Given the description of an element on the screen output the (x, y) to click on. 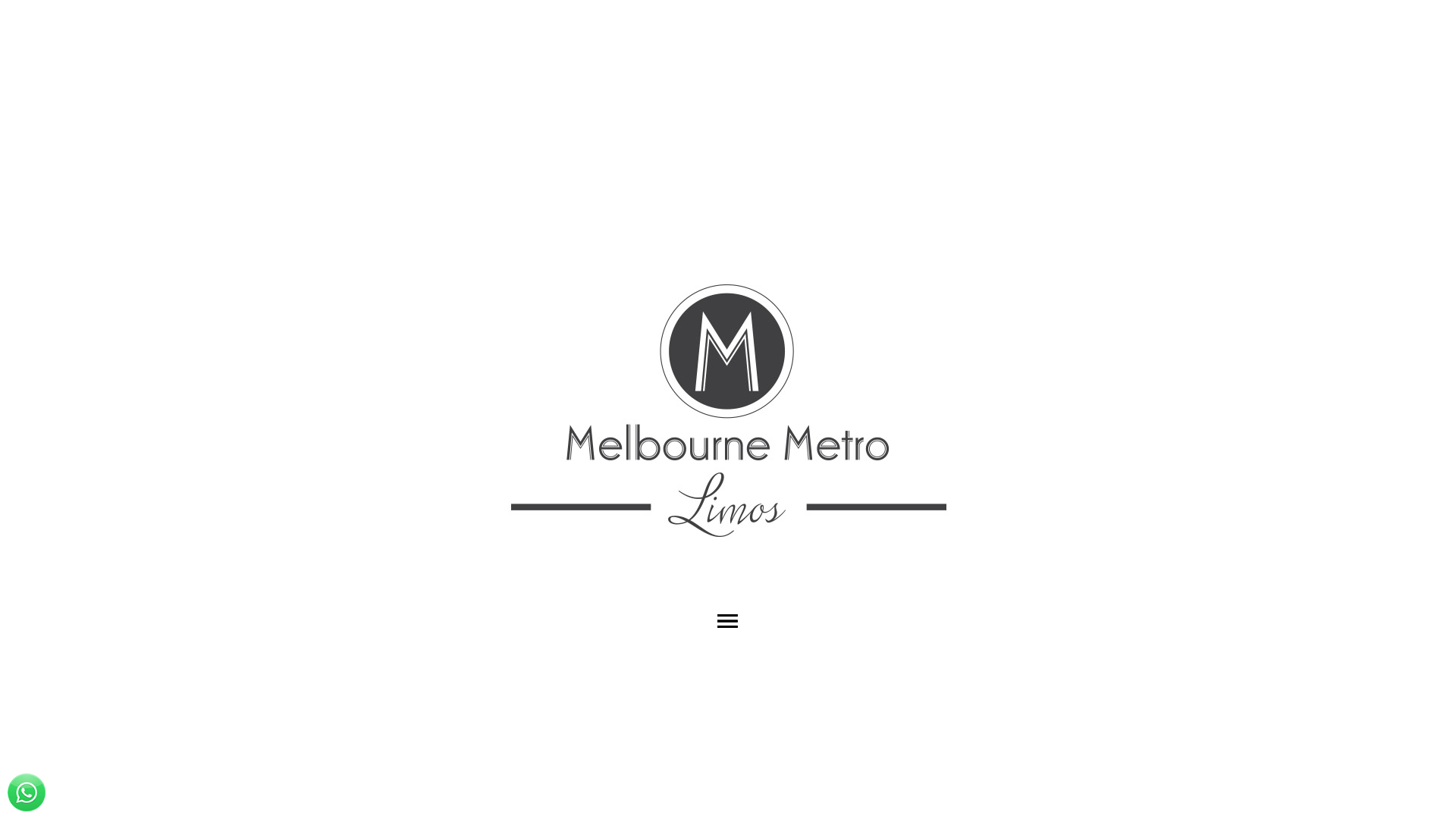
Menu Element type: text (727, 620)
